Given the description of an element on the screen output the (x, y) to click on. 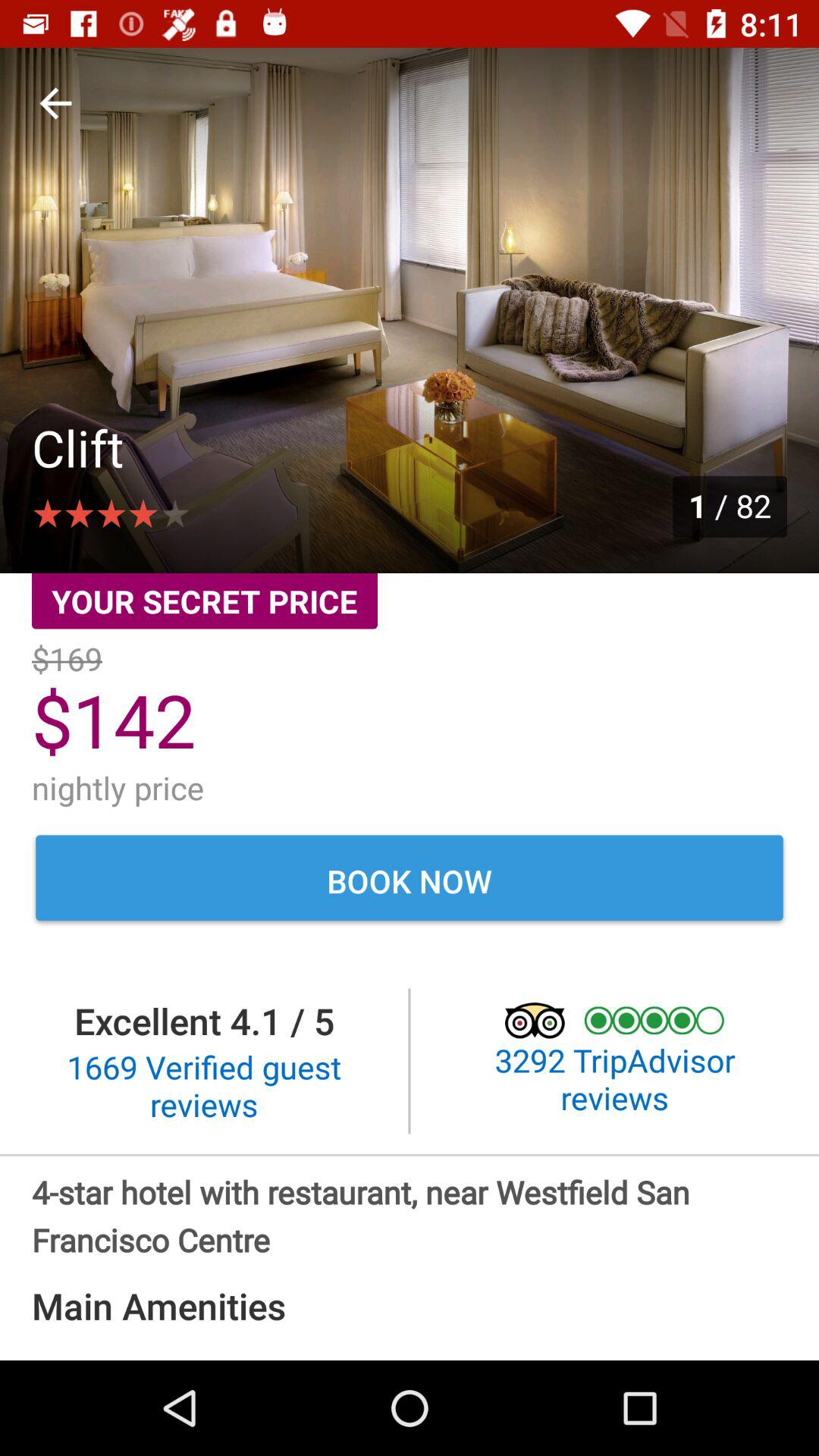
click the item at the center (409, 880)
